Given the description of an element on the screen output the (x, y) to click on. 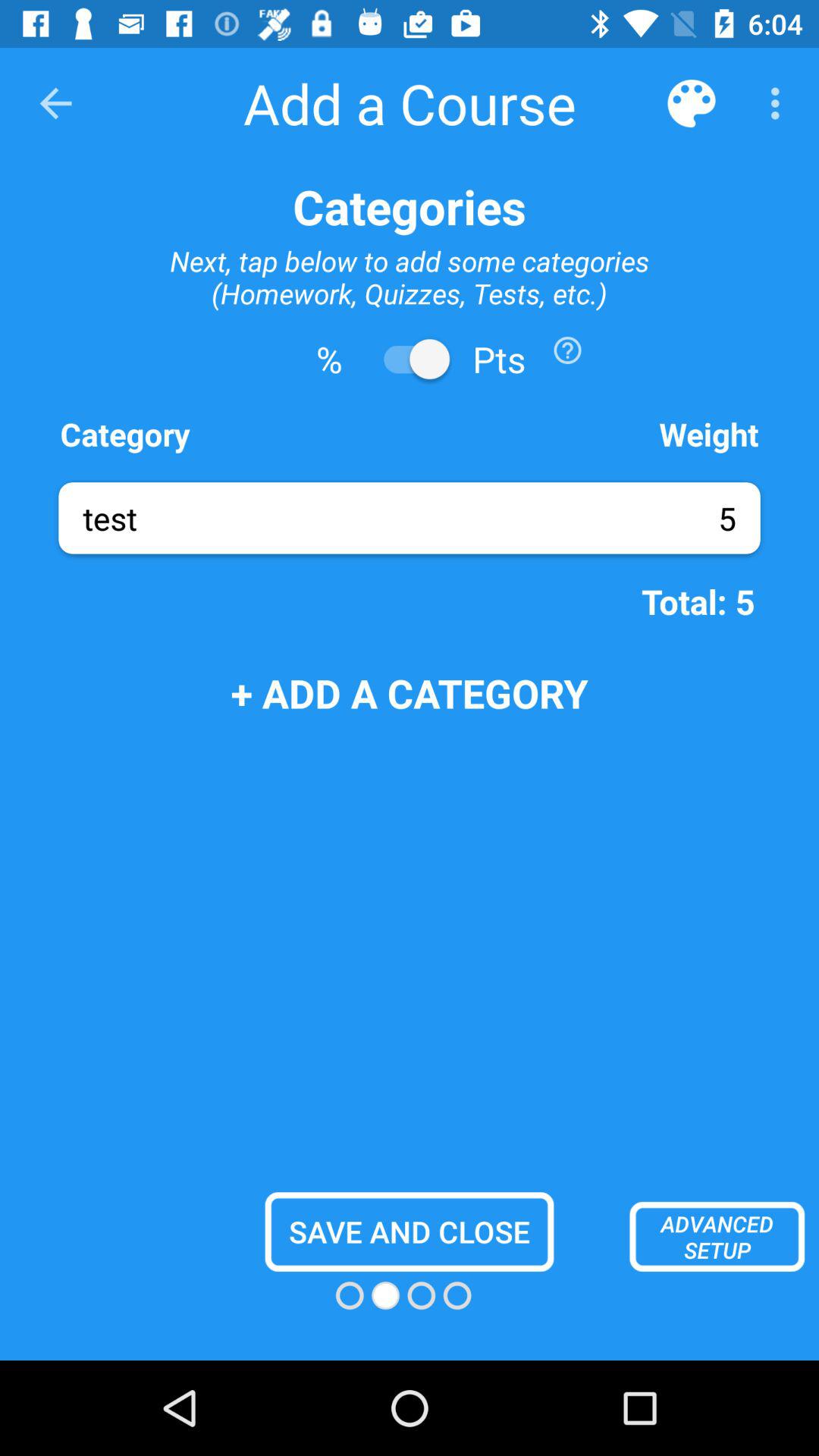
flip until the save and close item (409, 1231)
